Given the description of an element on the screen output the (x, y) to click on. 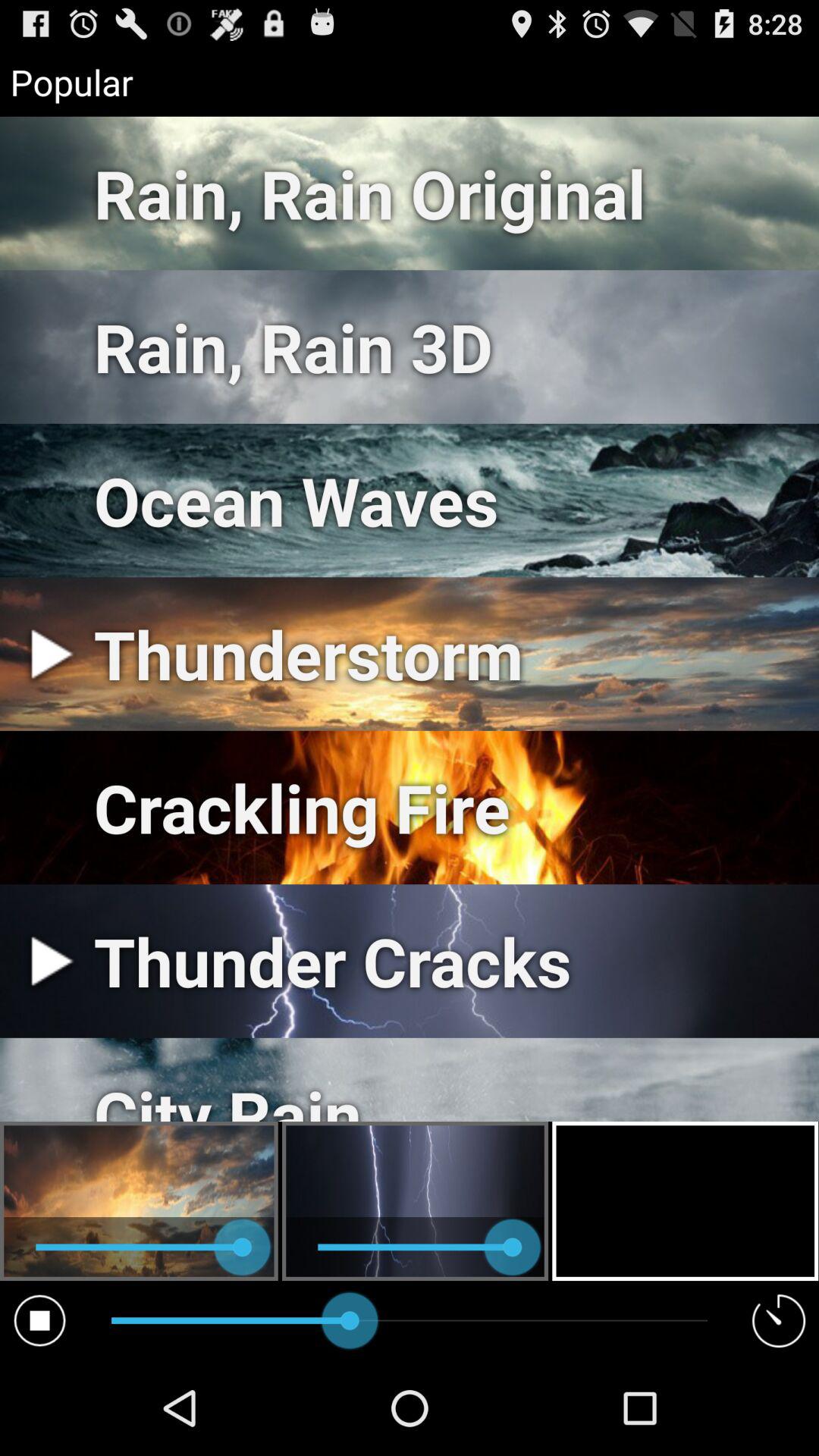
select the item to the left of rain on a icon (39, 1320)
